Given the description of an element on the screen output the (x, y) to click on. 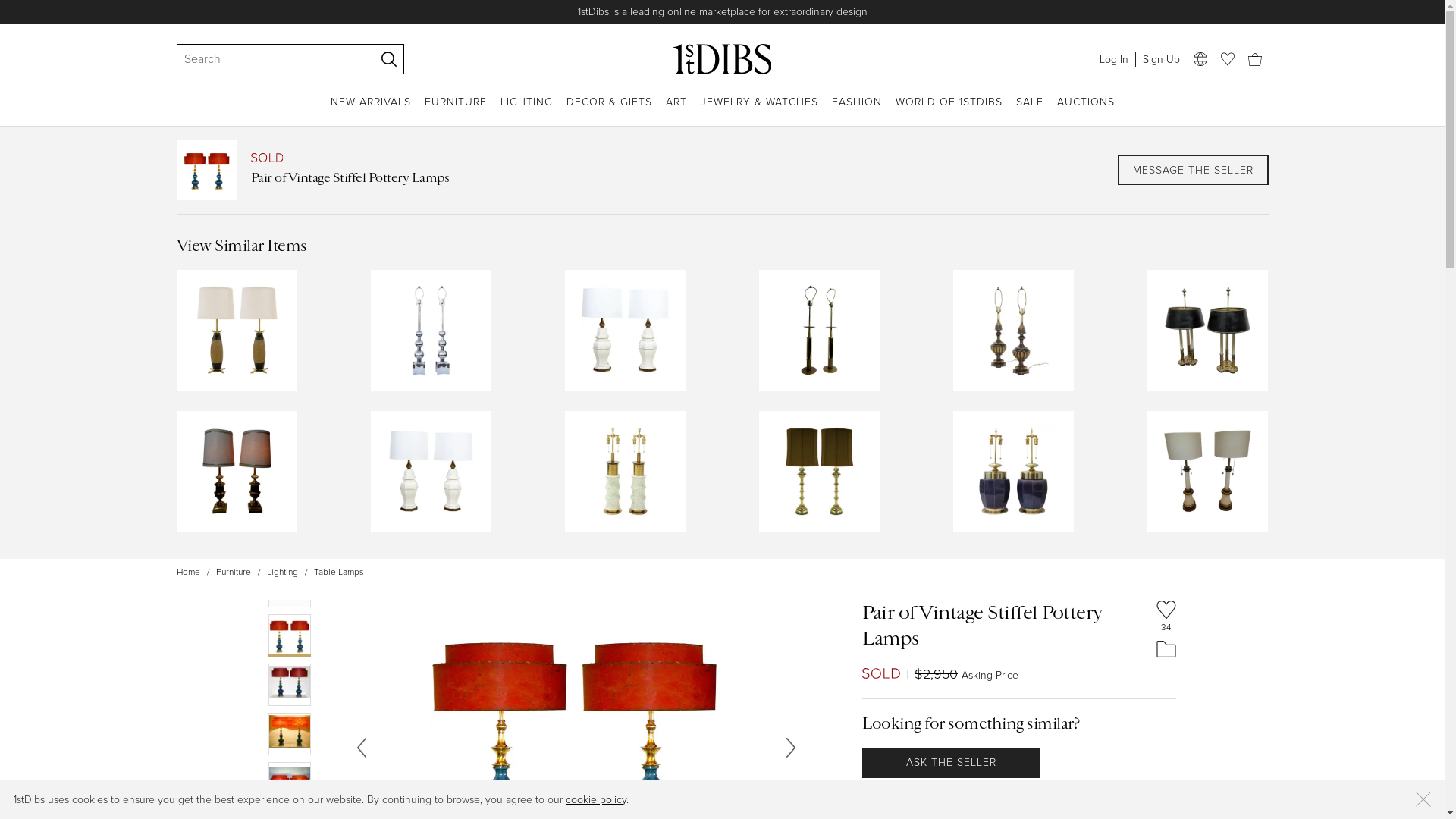
Sign Up Element type: text (1160, 59)
cookie policy Element type: text (595, 799)
SALE Element type: text (1029, 109)
NEW ARRIVALS Element type: text (370, 109)
Vetted Professional Seller Element type: text (933, 793)
Search Element type: hover (268, 58)
LIGHTING Element type: text (526, 109)
Lighting Element type: text (282, 571)
Table Lamps Element type: text (338, 571)
FASHION Element type: text (856, 109)
SKIP TO MAIN CONTENT Element type: text (6, 6)
ART Element type: text (676, 109)
Shop Now Element type: text (871, 11)
JEWELRY & WATCHES Element type: text (759, 109)
WORLD OF 1STDIBS Element type: text (947, 109)
Home Element type: text (187, 571)
Log In Element type: text (1113, 59)
FURNITURE Element type: text (455, 109)
MESSAGE THE SELLER Element type: text (1192, 169)
ASK THE SELLER Element type: text (950, 762)
AUCTIONS Element type: text (1085, 109)
DECOR & GIFTS Element type: text (608, 109)
Furniture Element type: text (232, 571)
